Given the description of an element on the screen output the (x, y) to click on. 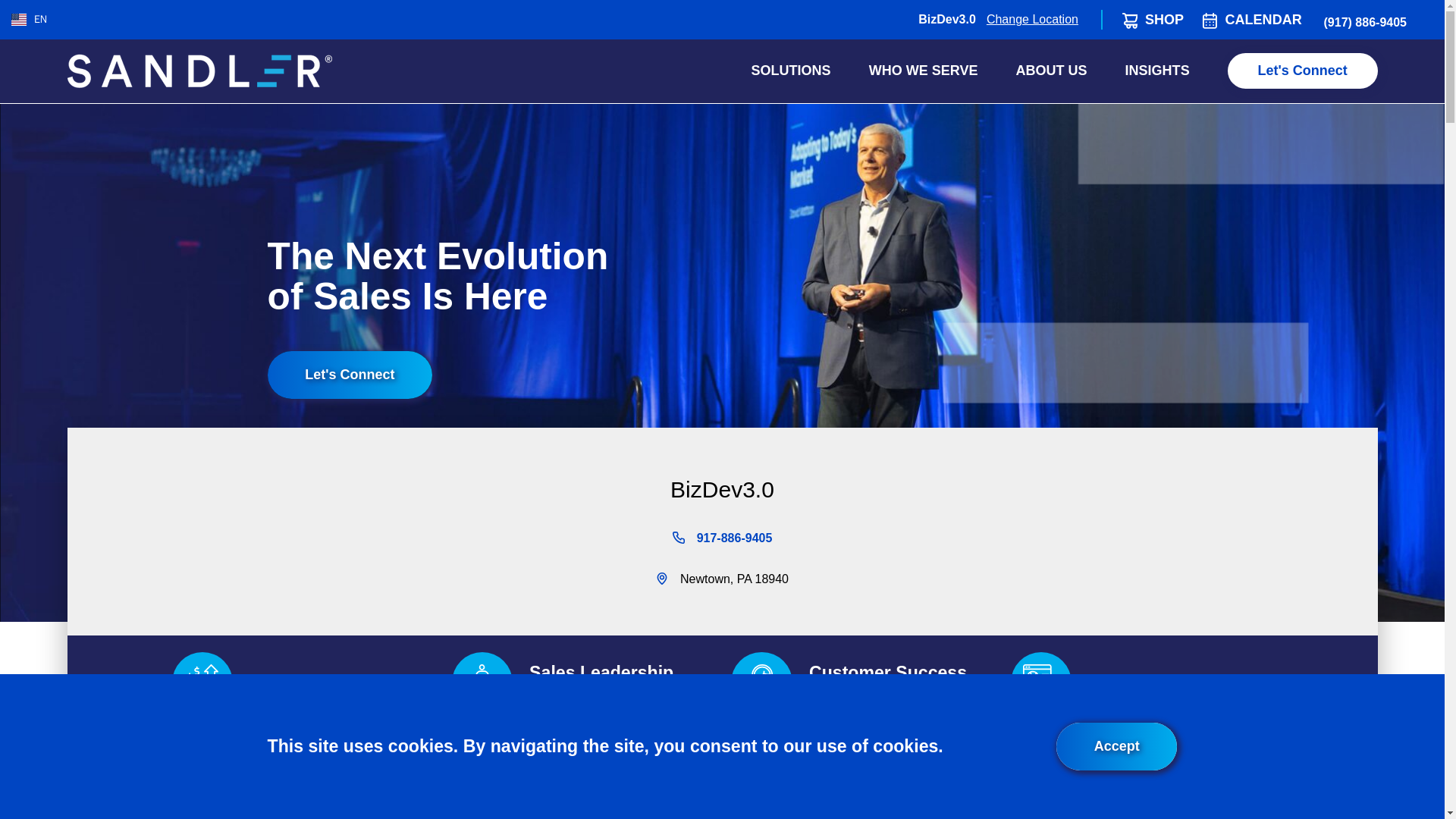
WHO WE SERVE (923, 70)
Home (198, 70)
SHOP (1163, 19)
EN (28, 18)
Change Location (1032, 18)
CALENDAR (1263, 19)
SOLUTIONS (791, 70)
